Given the description of an element on the screen output the (x, y) to click on. 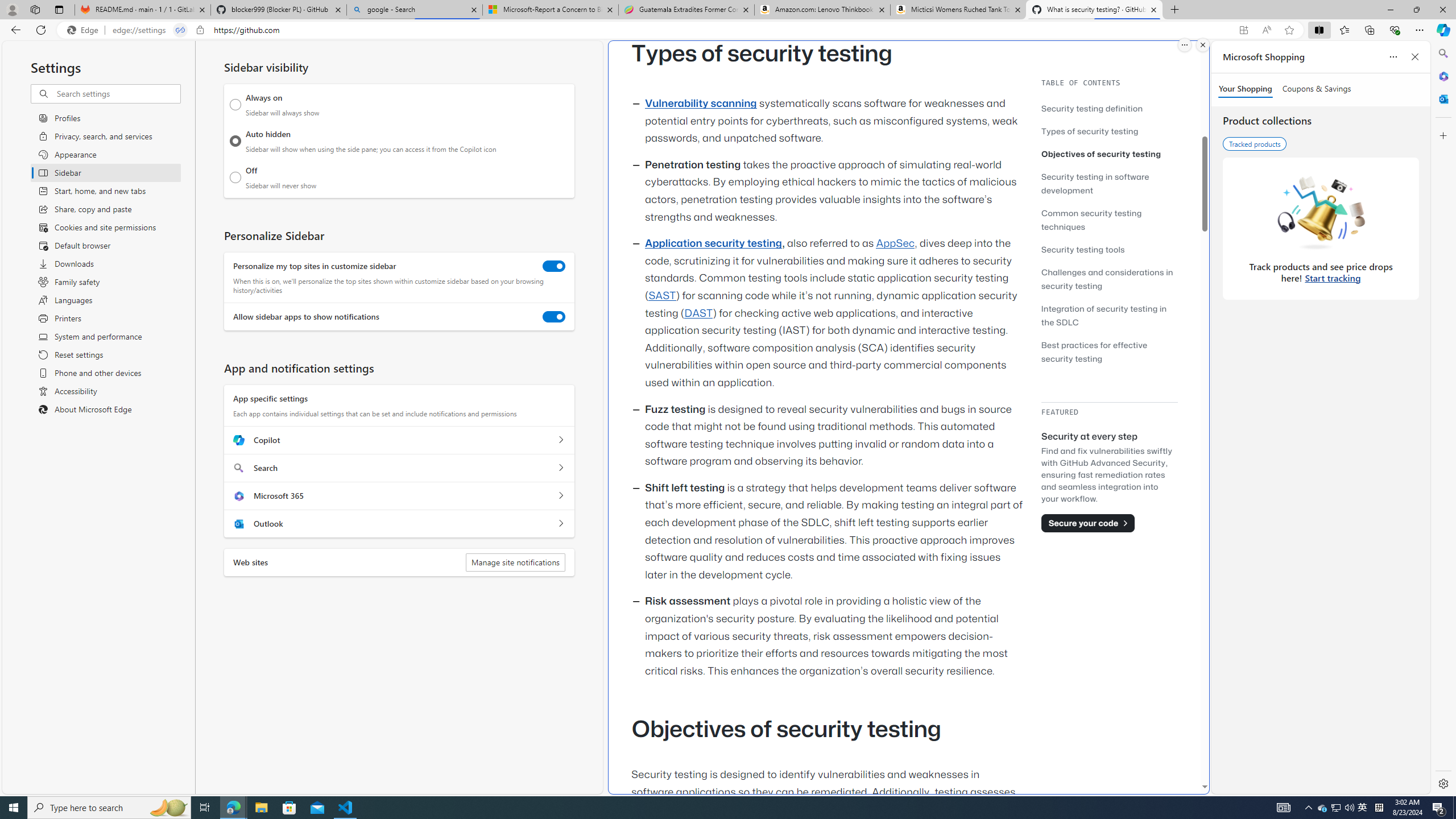
Common security testing techniques (1109, 219)
Application security testing (713, 243)
Challenges and considerations in security testing (1109, 279)
Best practices for effective security testing (1109, 351)
Secure your code (1088, 522)
